Given the description of an element on the screen output the (x, y) to click on. 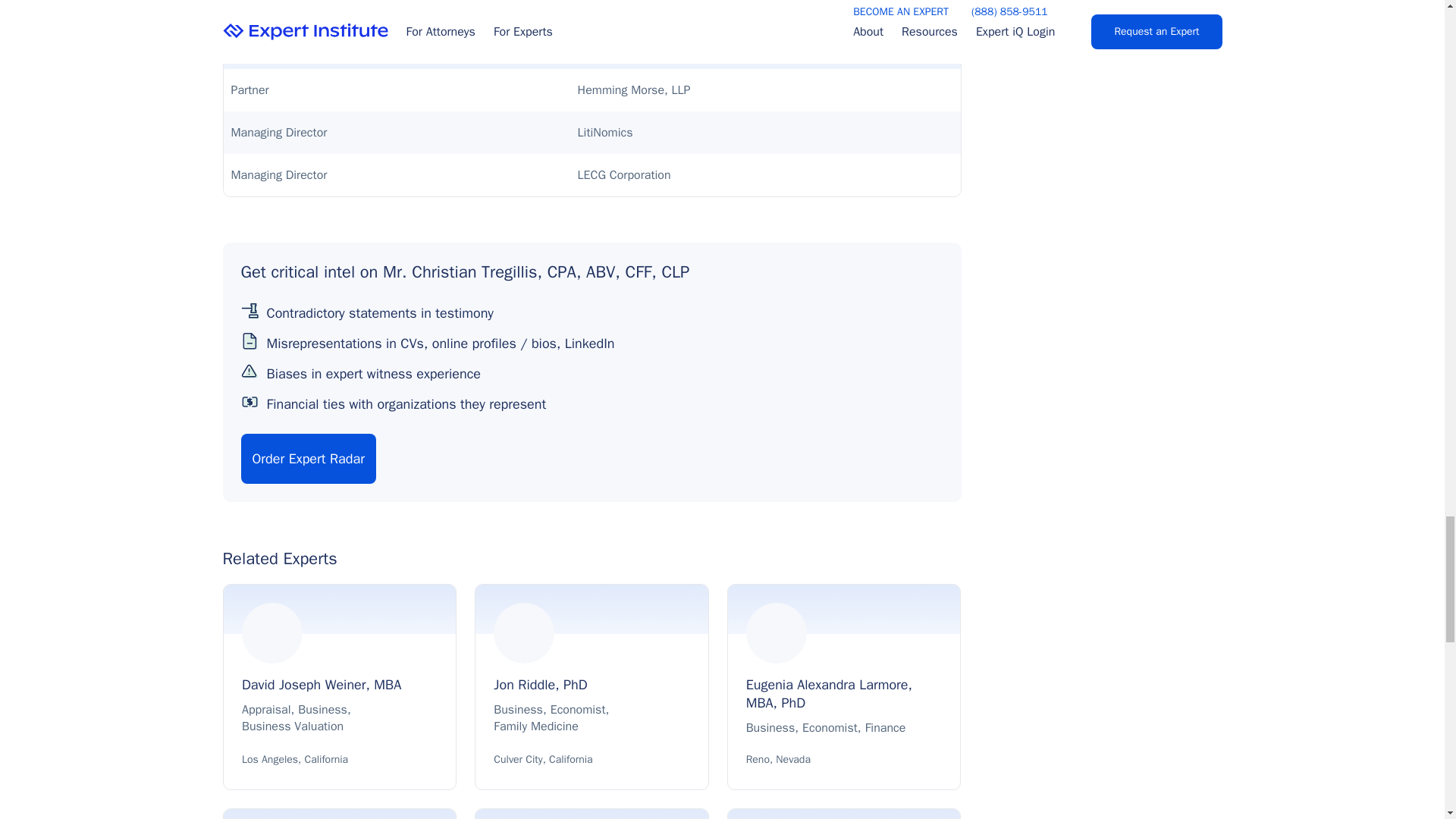
Appraisal, (269, 709)
Business, (325, 709)
Business Valuation (292, 726)
Order Expert Radar (308, 459)
David Joseph Weiner, MBA (339, 688)
